Given the description of an element on the screen output the (x, y) to click on. 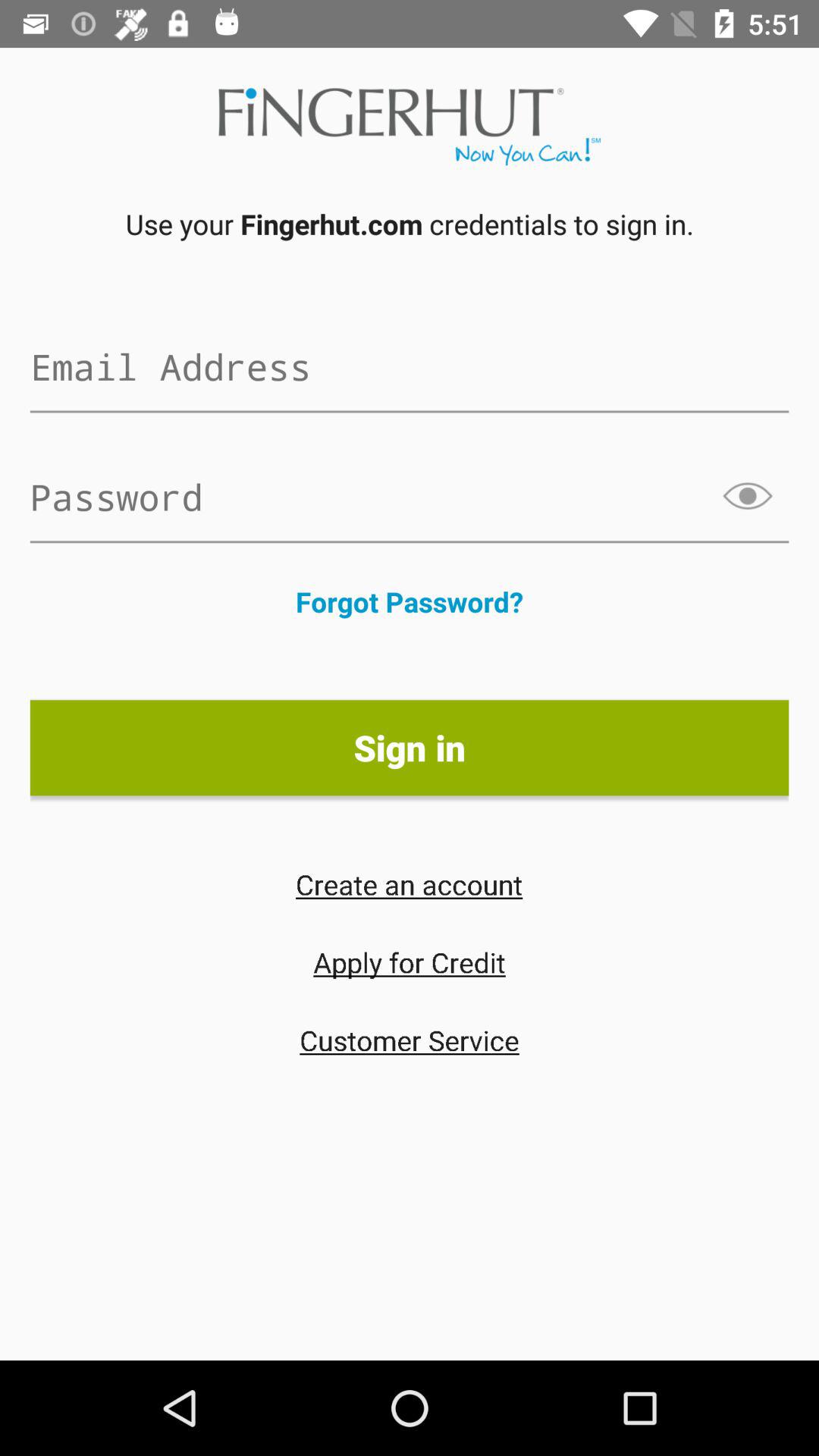
select the apply for credit item (409, 962)
